Given the description of an element on the screen output the (x, y) to click on. 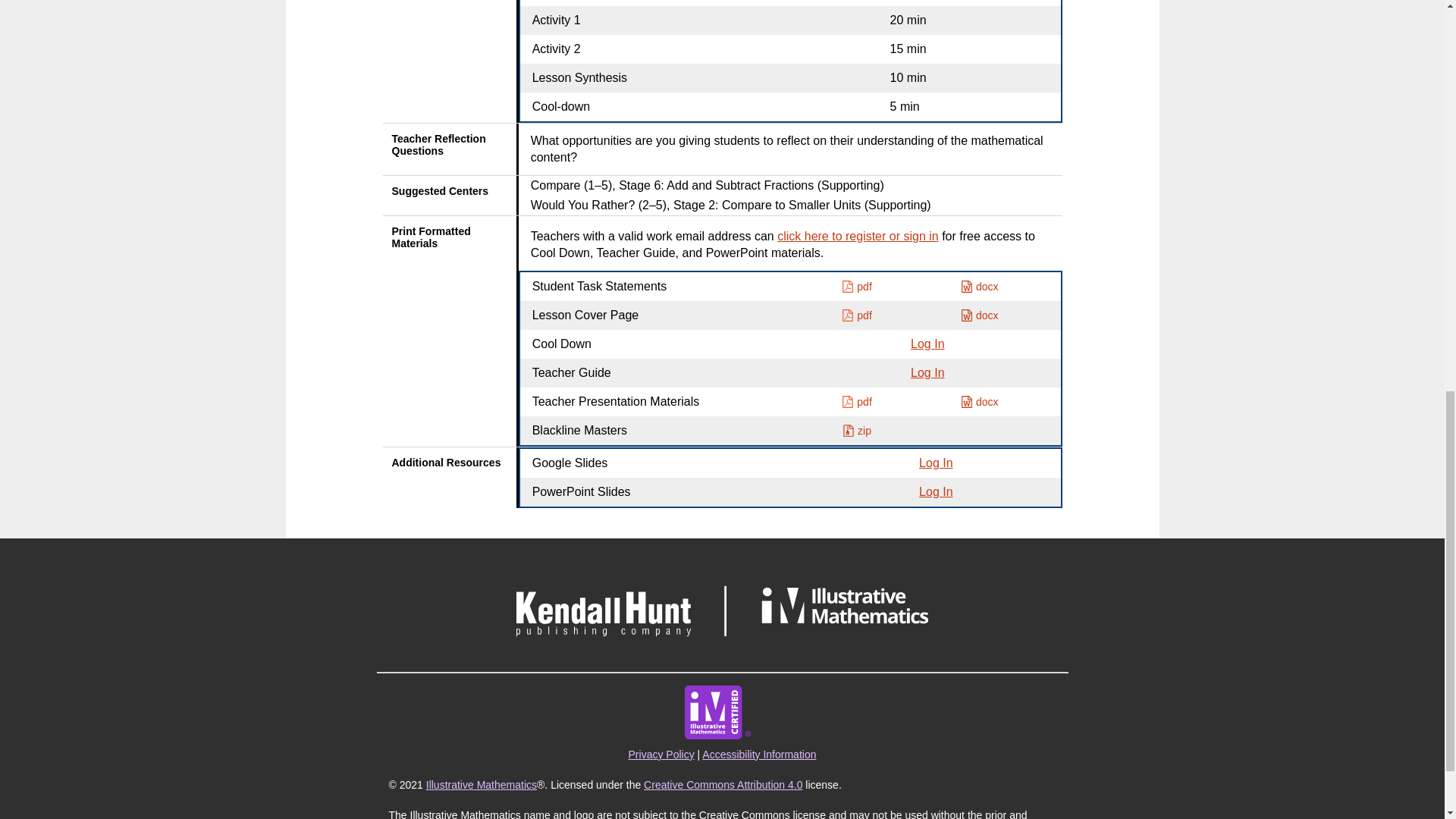
translation missing: en.log in (935, 491)
translation missing: en.log in (927, 372)
translation missing: en.log in (927, 343)
translation missing: en.log in (935, 462)
